Given the description of an element on the screen output the (x, y) to click on. 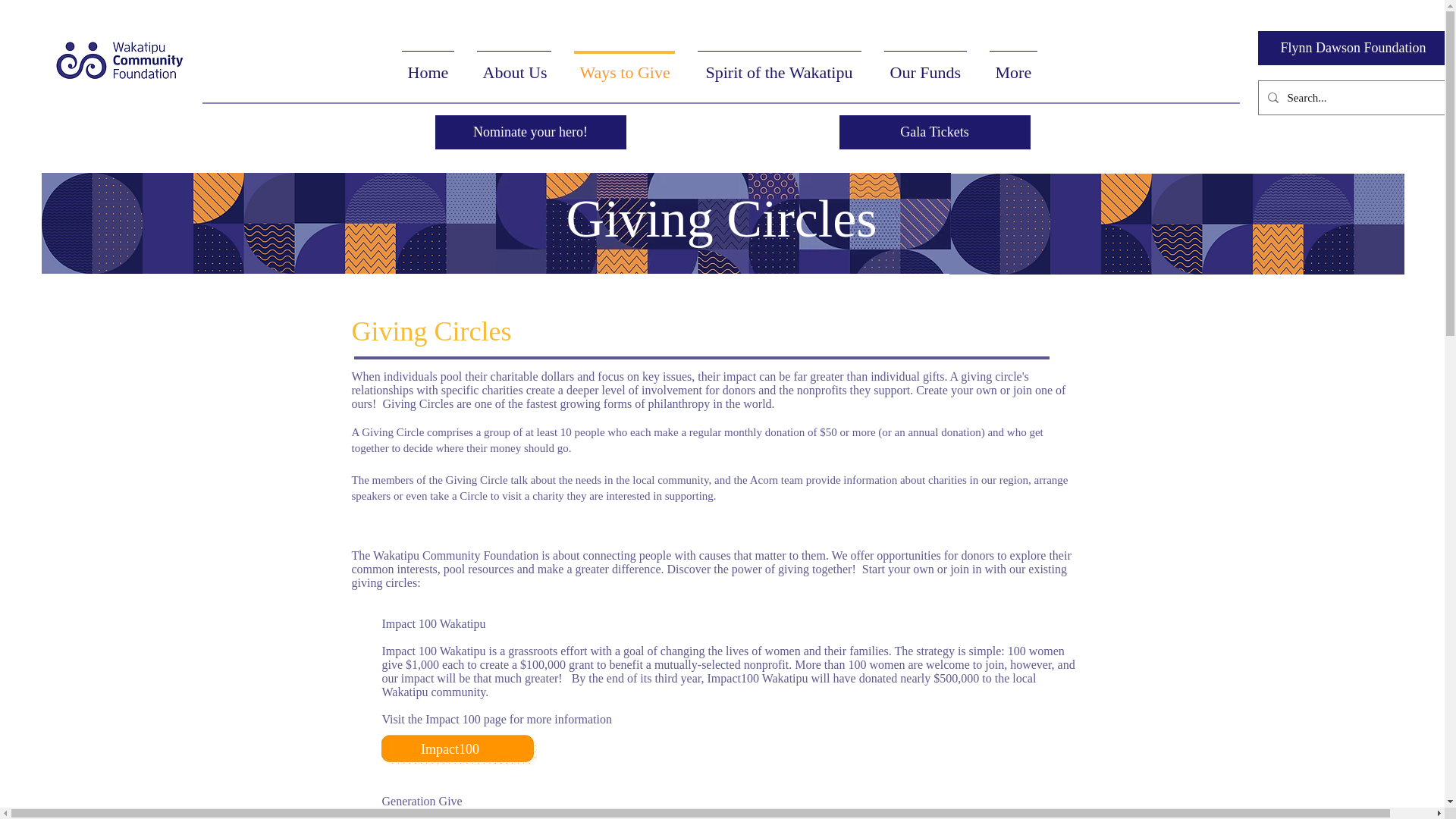
Spirit of the Wakatipu (778, 65)
Nominate your hero! (530, 132)
Gala Tickets (933, 132)
Home (427, 65)
Asset 5.jpg (457, 749)
Flynn Dawson Foundation (1352, 48)
Ways to Give (623, 65)
Our Funds (924, 65)
About Us (513, 65)
